Given the description of an element on the screen output the (x, y) to click on. 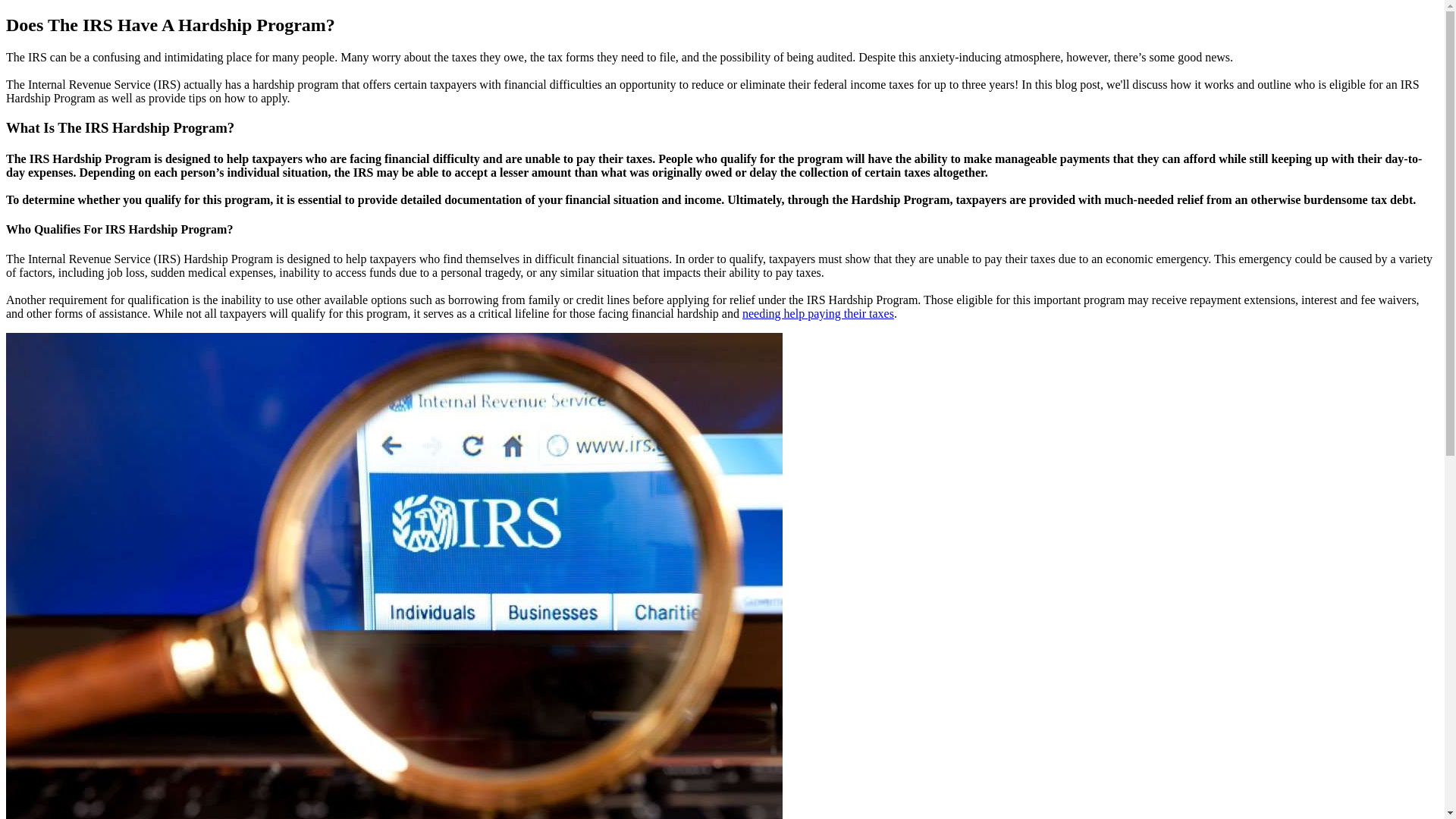
needing help paying their taxes Element type: text (818, 313)
